Given the description of an element on the screen output the (x, y) to click on. 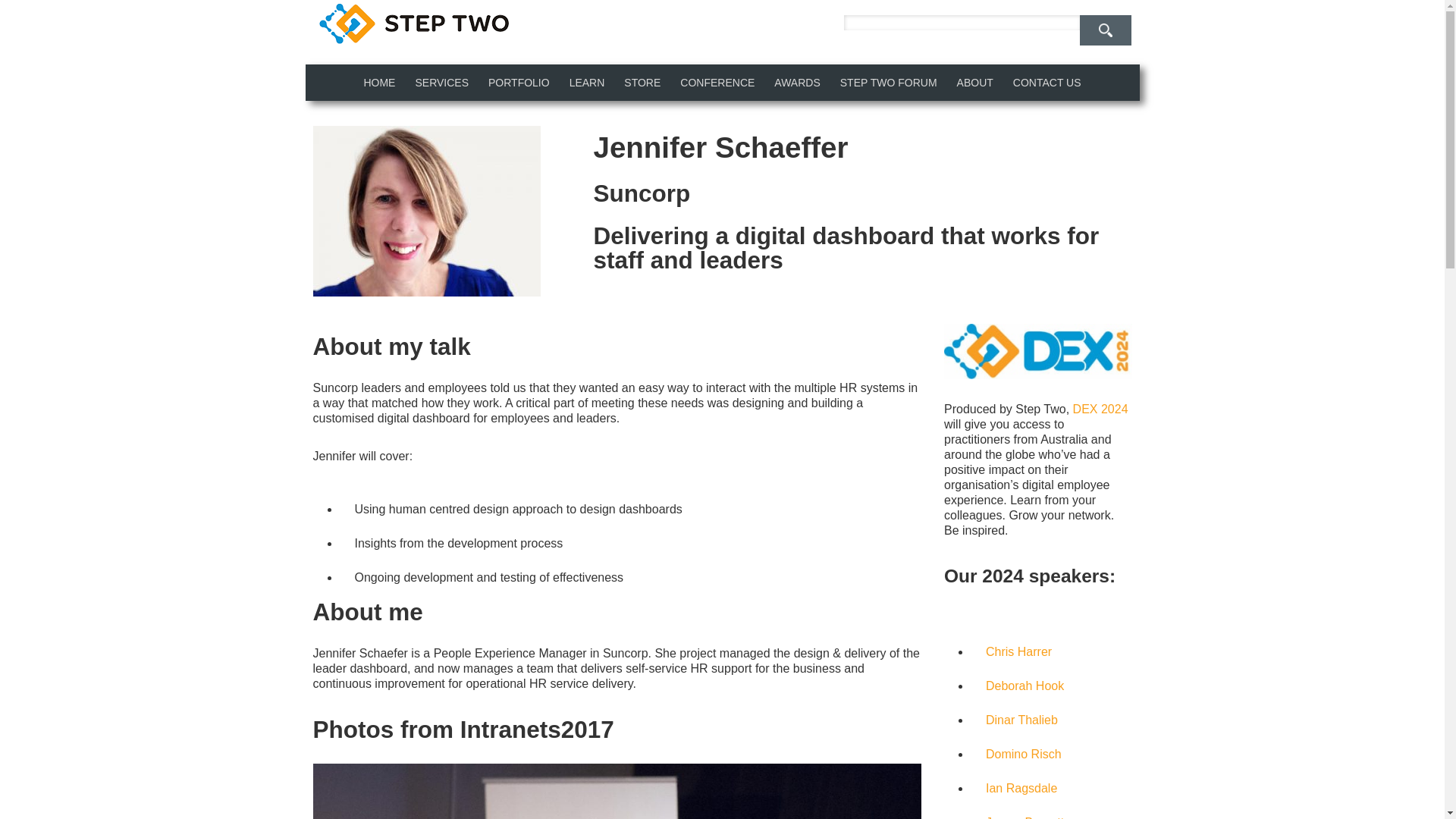
PORTFOLIO (519, 82)
STORE (641, 82)
HOME (378, 82)
CONTACT US (1046, 82)
SERVICES (441, 82)
CONFERENCE (716, 82)
Dinar Thalieb (1021, 719)
STEP TWO FORUM (888, 82)
James Barnett (1024, 817)
